Given the description of an element on the screen output the (x, y) to click on. 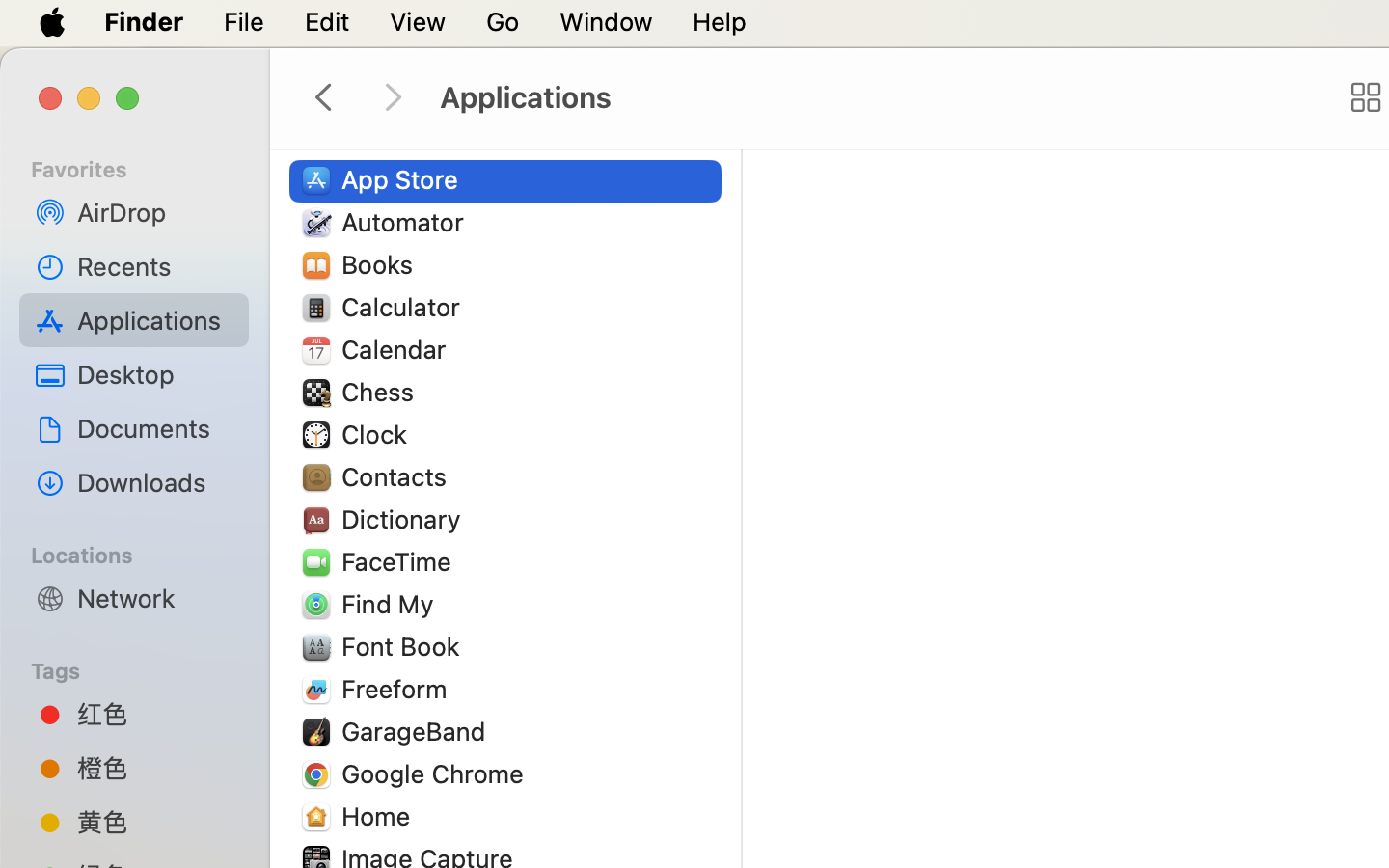
AirDrop Element type: AXStaticText (155, 211)
Network Element type: AXStaticText (155, 597)
橙色 Element type: AXStaticText (155, 767)
Dictionary Element type: AXTextField (404, 518)
FaceTime Element type: AXTextField (400, 560)
